Given the description of an element on the screen output the (x, y) to click on. 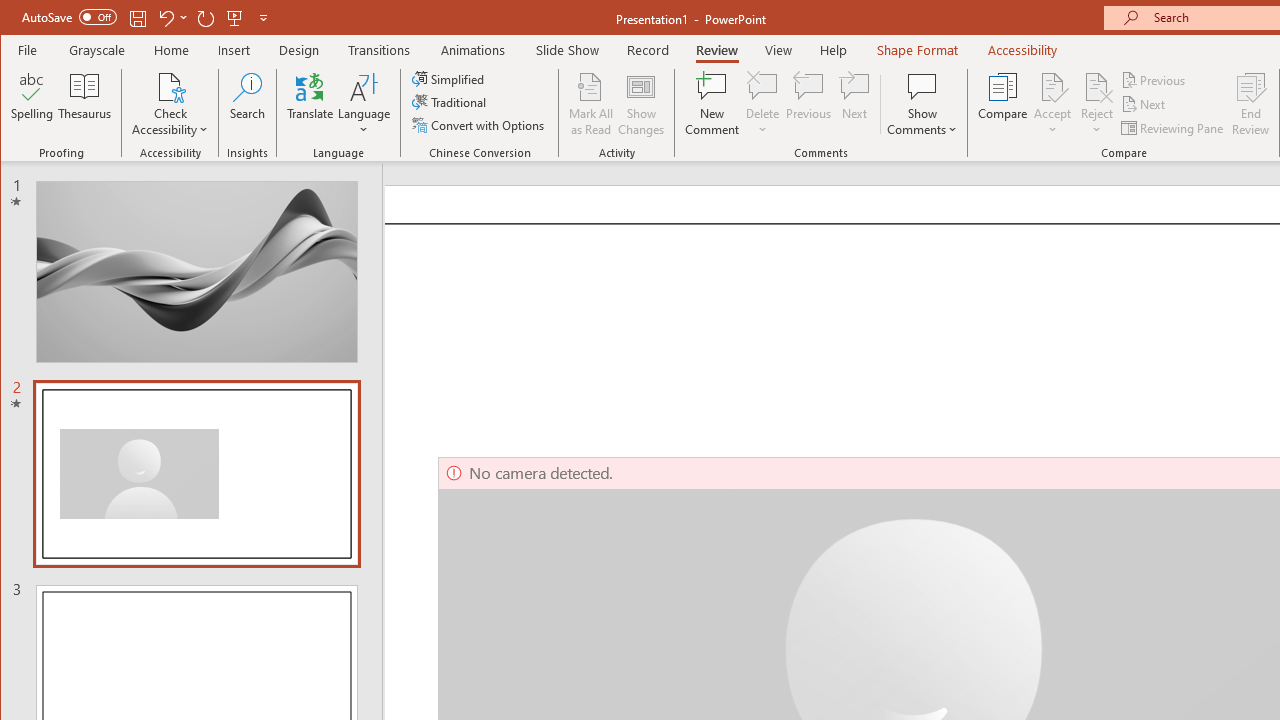
Reviewing Pane (1173, 127)
Accept (1052, 104)
Previous (1154, 80)
